Given the description of an element on the screen output the (x, y) to click on. 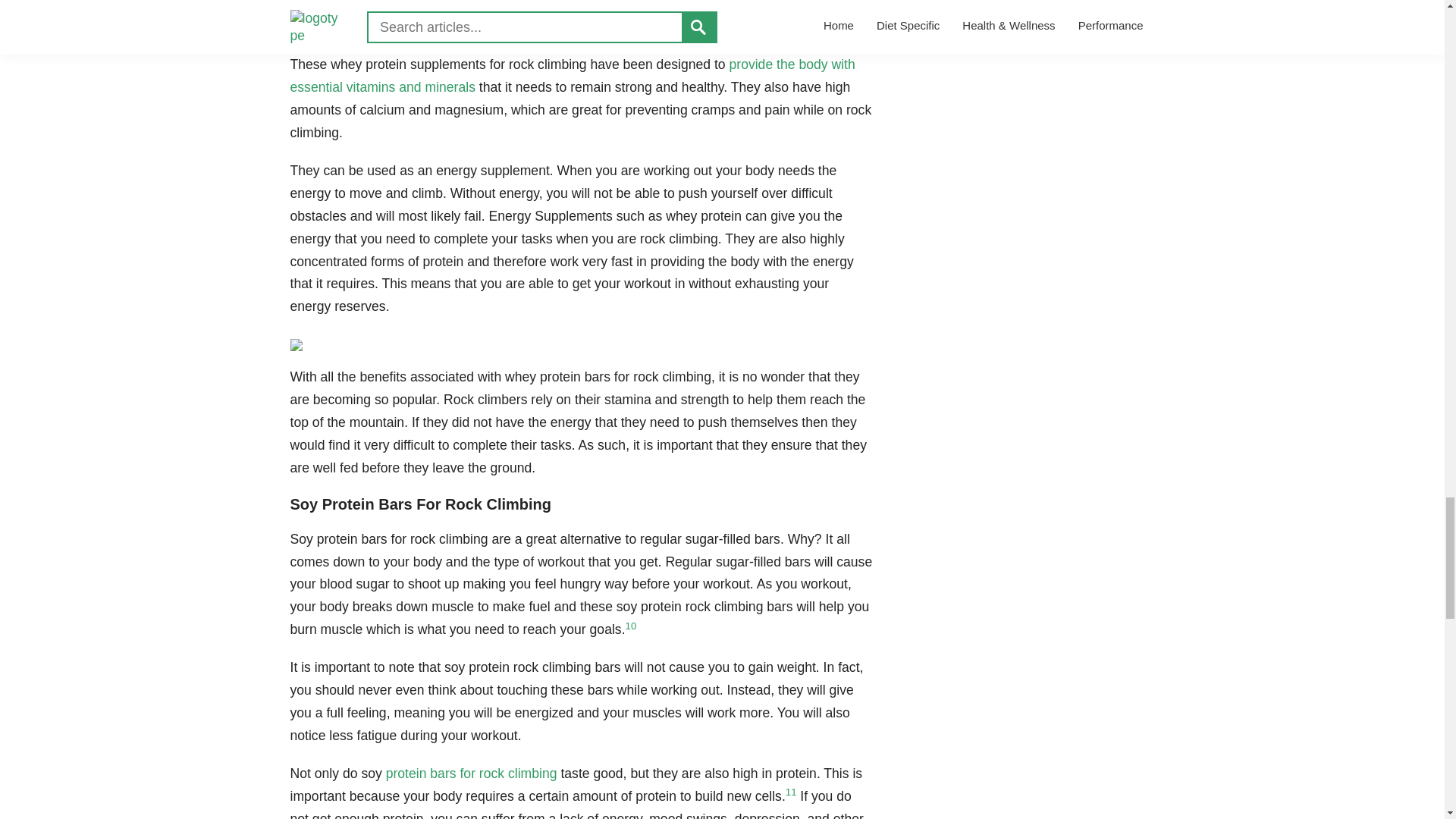
provide the body with essential vitamins and minerals (571, 75)
10 (631, 625)
